Given the description of an element on the screen output the (x, y) to click on. 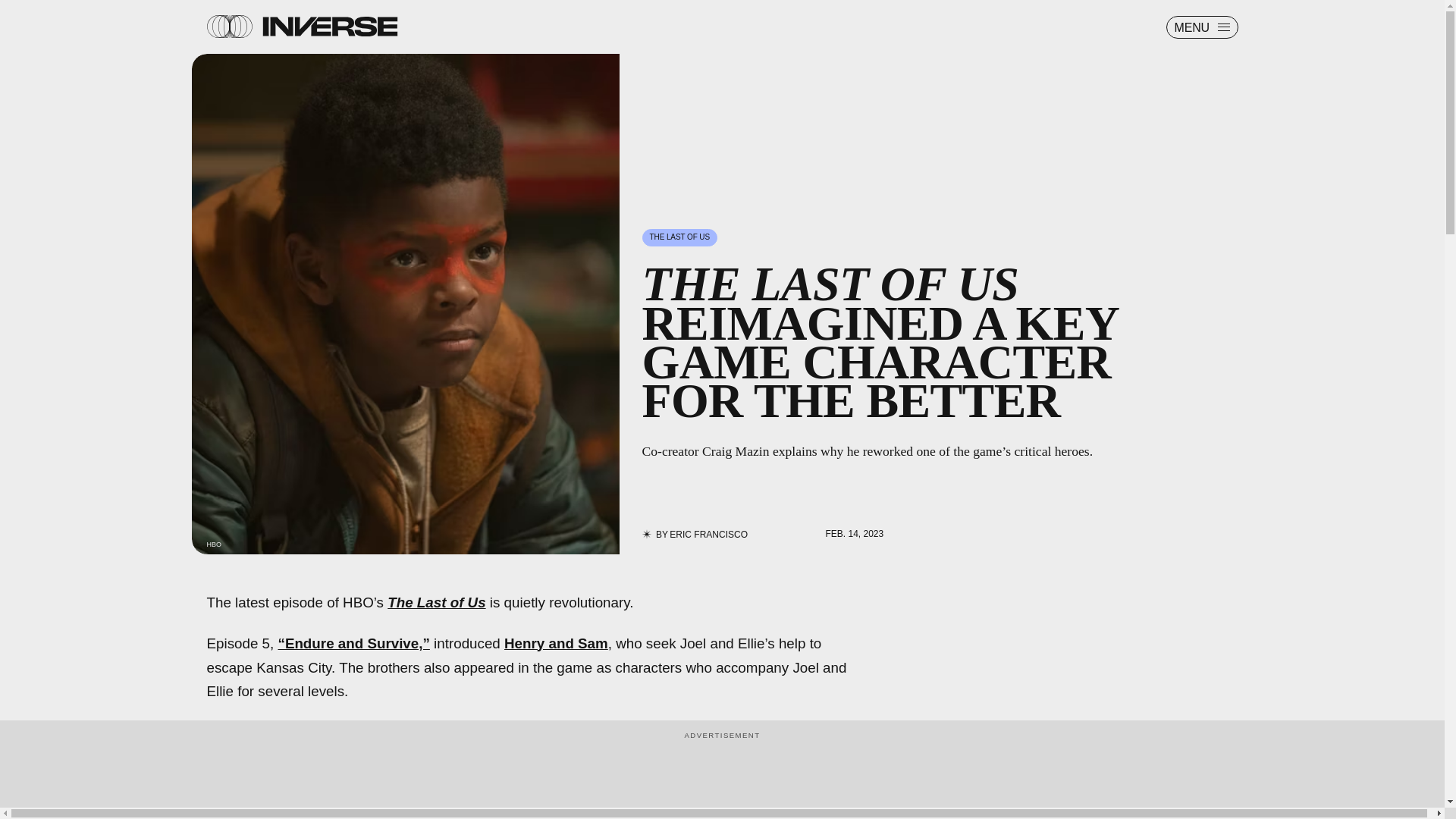
The Last of Us (435, 602)
ERIC FRANCISCO (708, 533)
Henry and Sam (555, 643)
Inverse (328, 26)
